Given the description of an element on the screen output the (x, y) to click on. 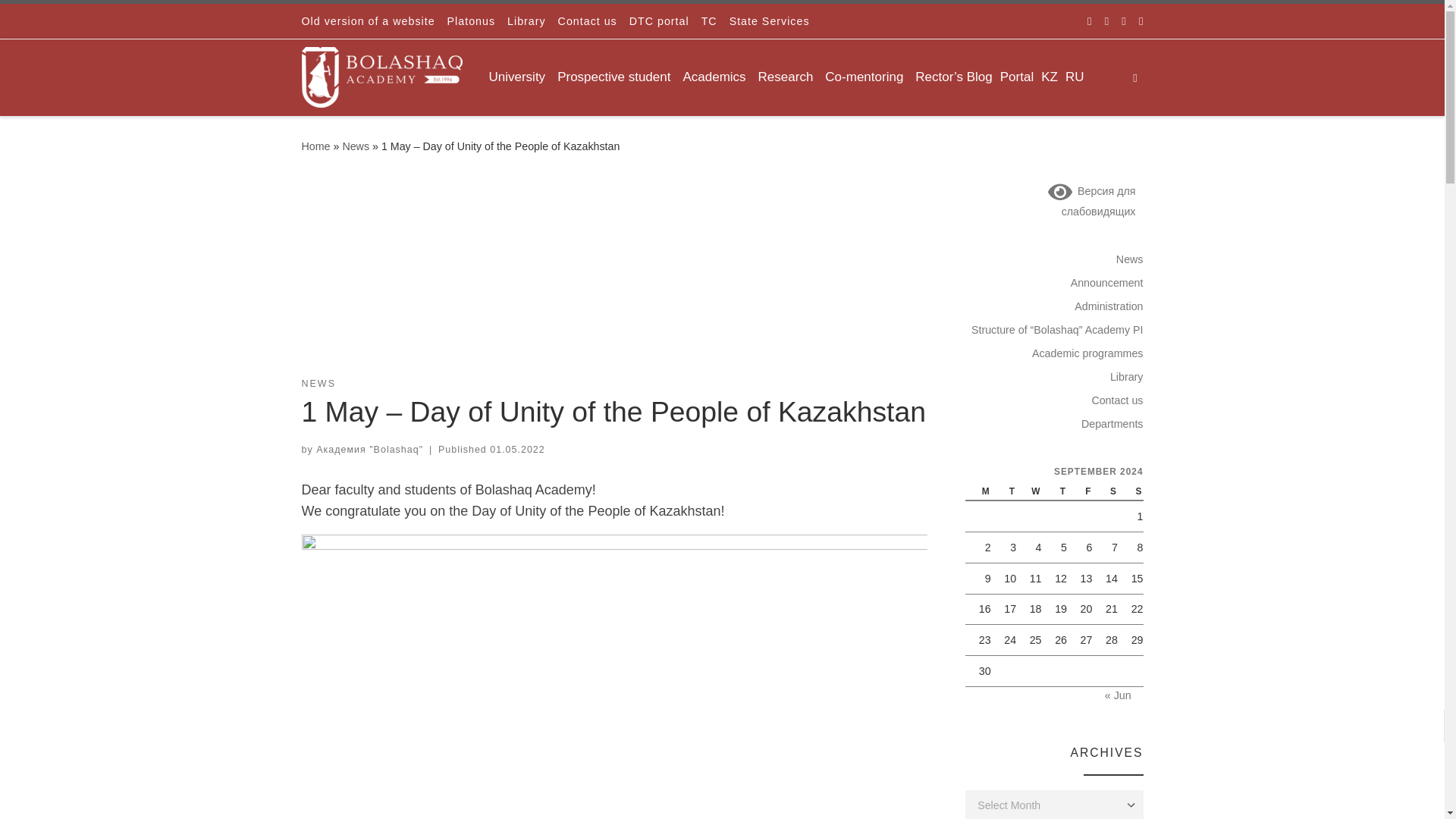
News (355, 146)
DTC portal (659, 21)
Prospective student (615, 77)
Old version of a website (368, 21)
01:23 (516, 449)
State Services (769, 21)
Platonus (470, 21)
View all posts in News (318, 383)
Contact us (587, 21)
University (519, 77)
